Given the description of an element on the screen output the (x, y) to click on. 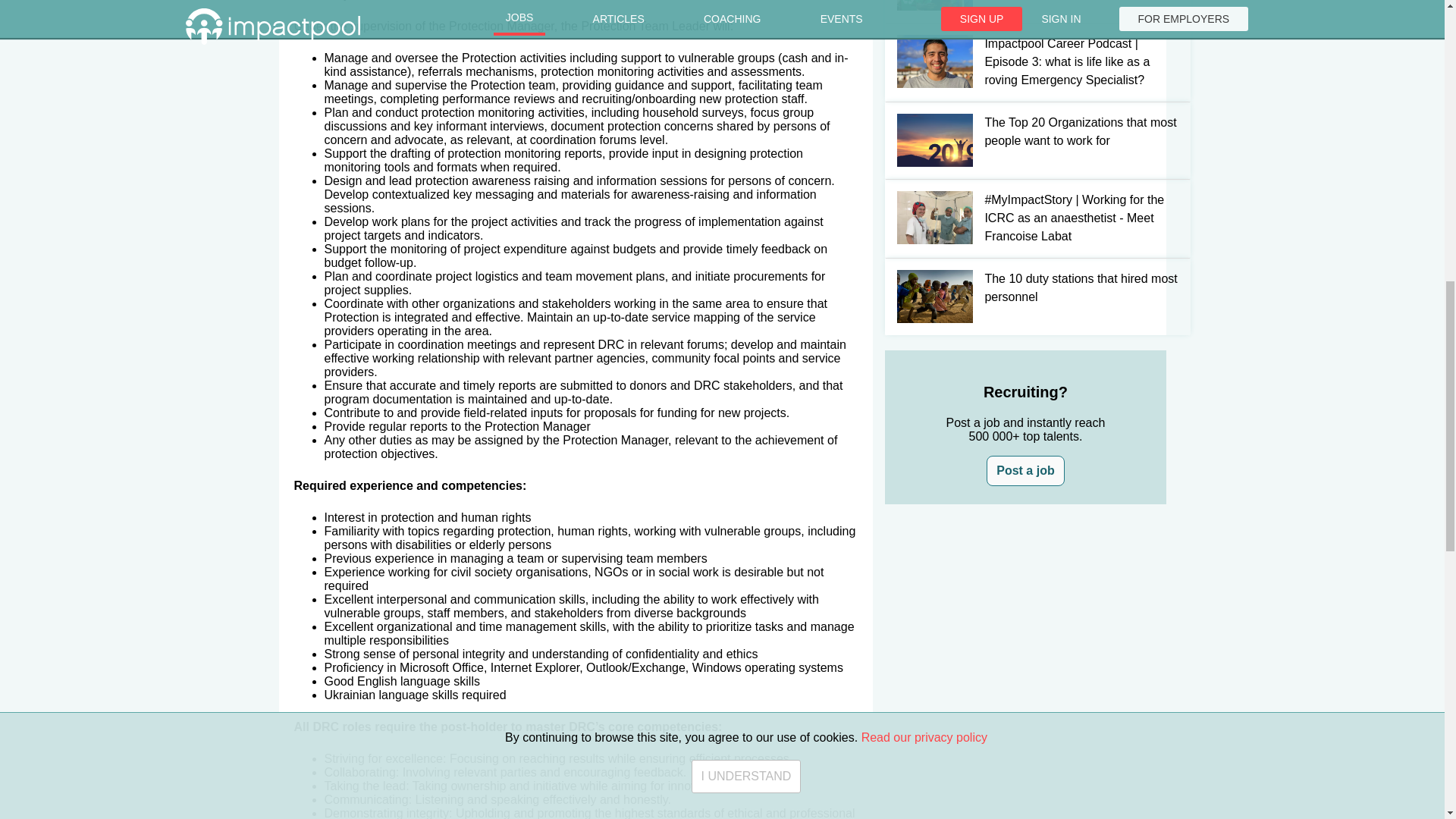
Impactpool's Top 15 NGOs (1025, 11)
The Top 20 Organizations that most people want to work for (1025, 140)
I UNDERSTAND (746, 52)
Read our privacy policy (924, 19)
Post a job (1025, 470)
The 10 duty stations that hired most personnel (1025, 295)
